Given the description of an element on the screen output the (x, y) to click on. 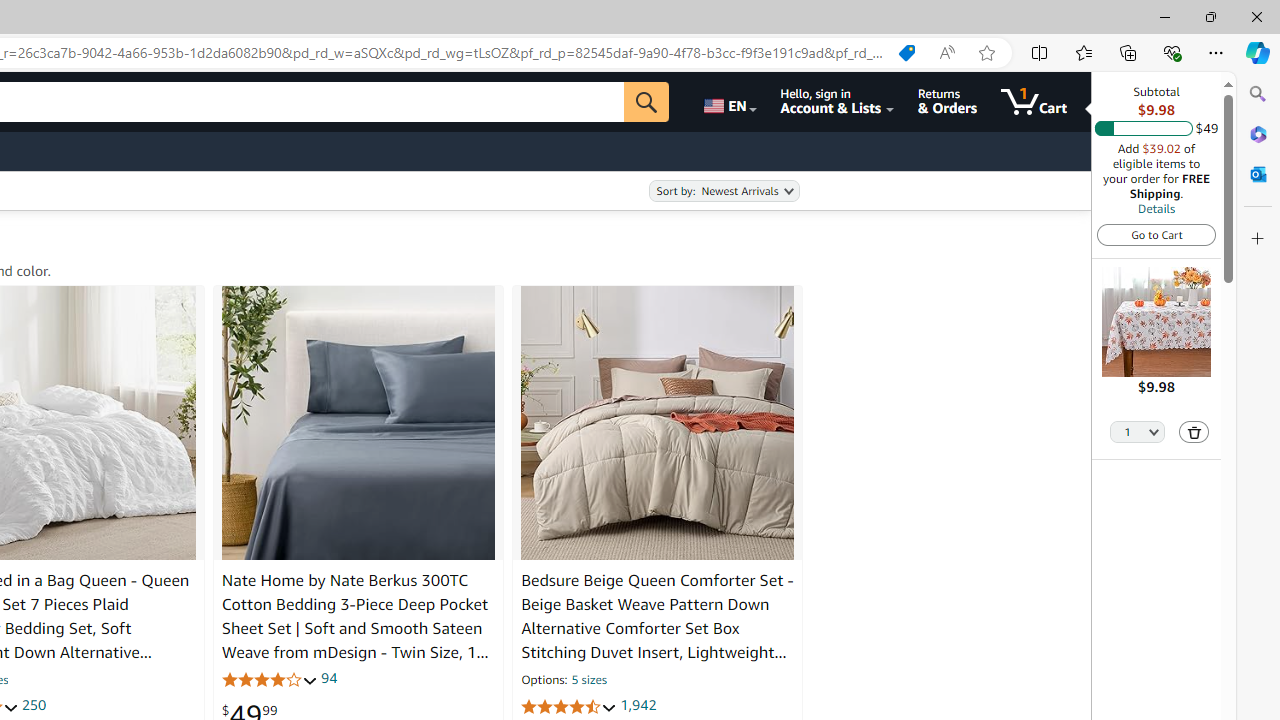
Delete (1193, 431)
1 item in cart (1034, 101)
Details (1156, 208)
Go (646, 101)
Shopping in Microsoft Edge (906, 53)
3.9 out of 5 stars (269, 678)
5 sizes (588, 681)
Quantity Selector (1137, 430)
1,942 (637, 705)
Go to Cart (1156, 234)
